Given the description of an element on the screen output the (x, y) to click on. 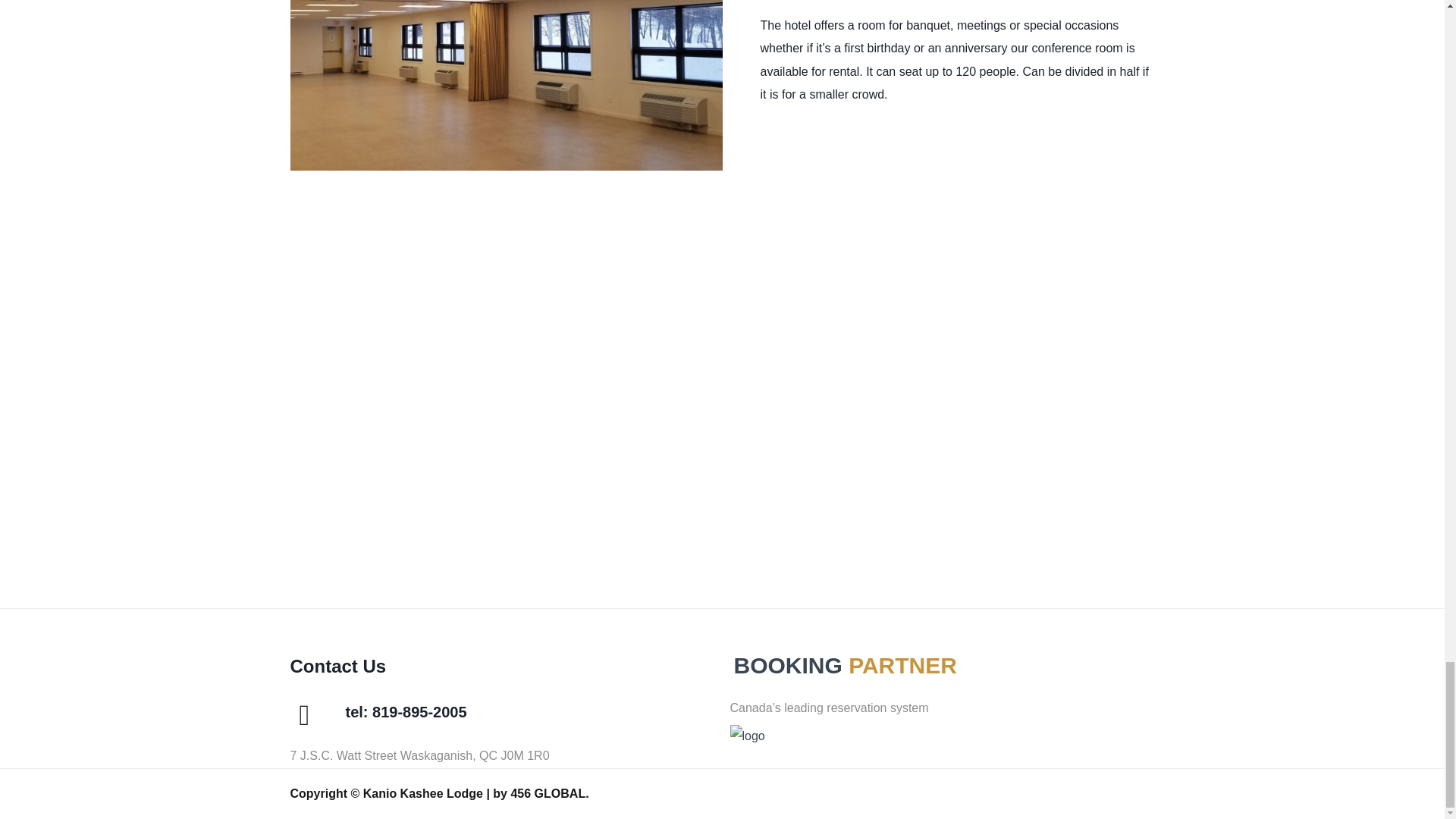
logo (746, 735)
